Given the description of an element on the screen output the (x, y) to click on. 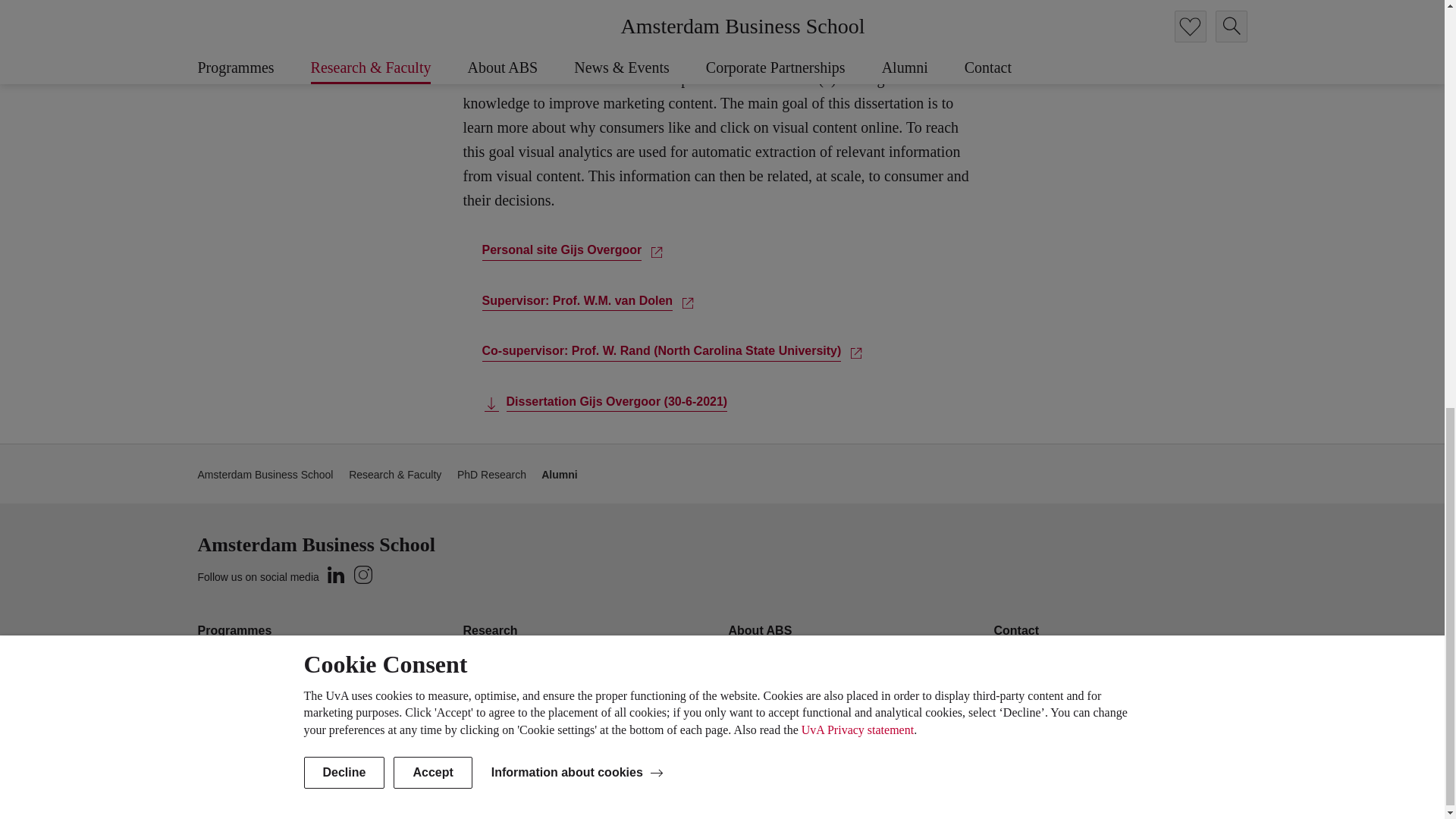
Privacy (1139, 791)
About this site (1076, 791)
University of Amsterdam (333, 791)
